Given the description of an element on the screen output the (x, y) to click on. 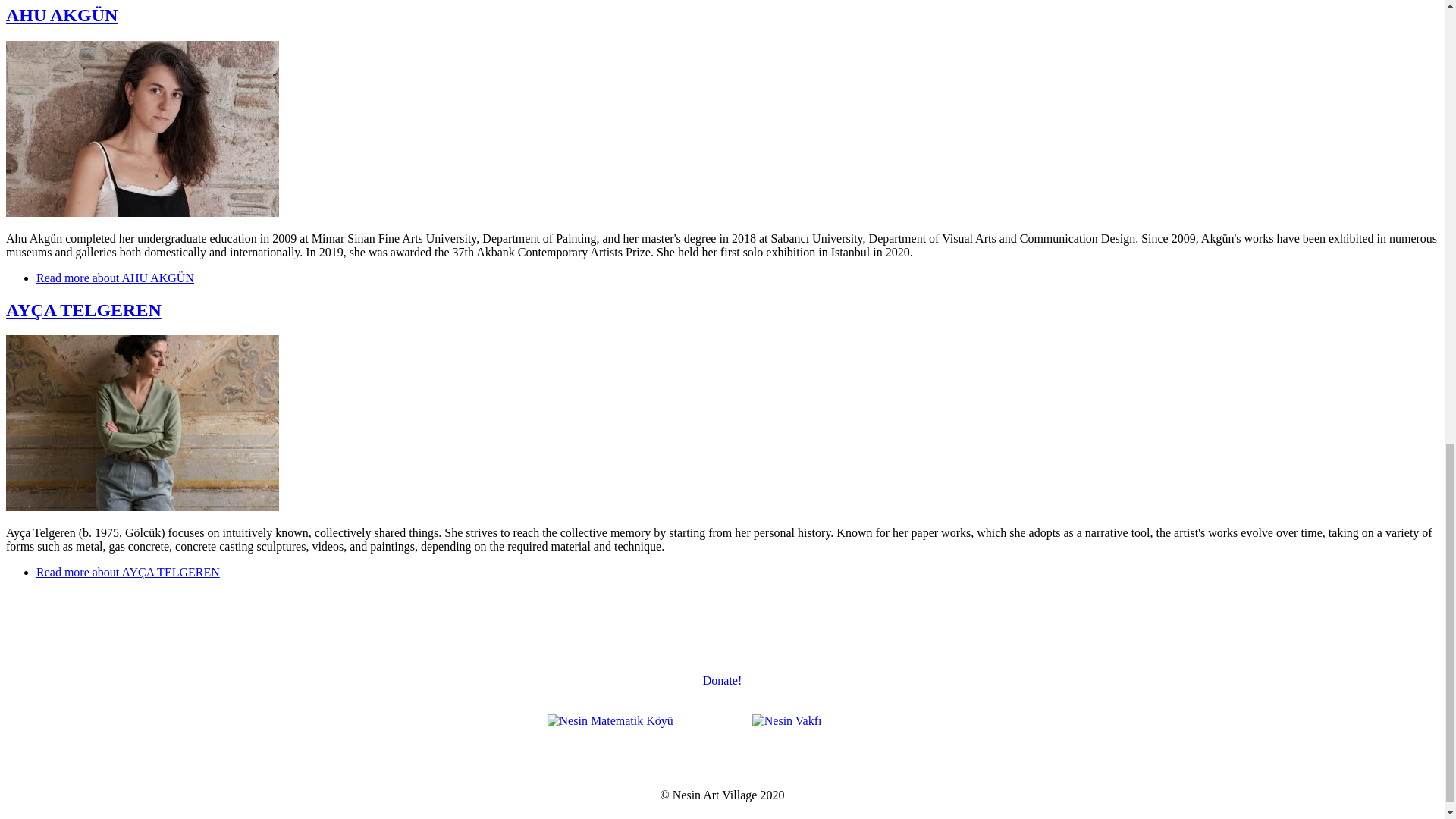
Donate! (722, 680)
